Given the description of an element on the screen output the (x, y) to click on. 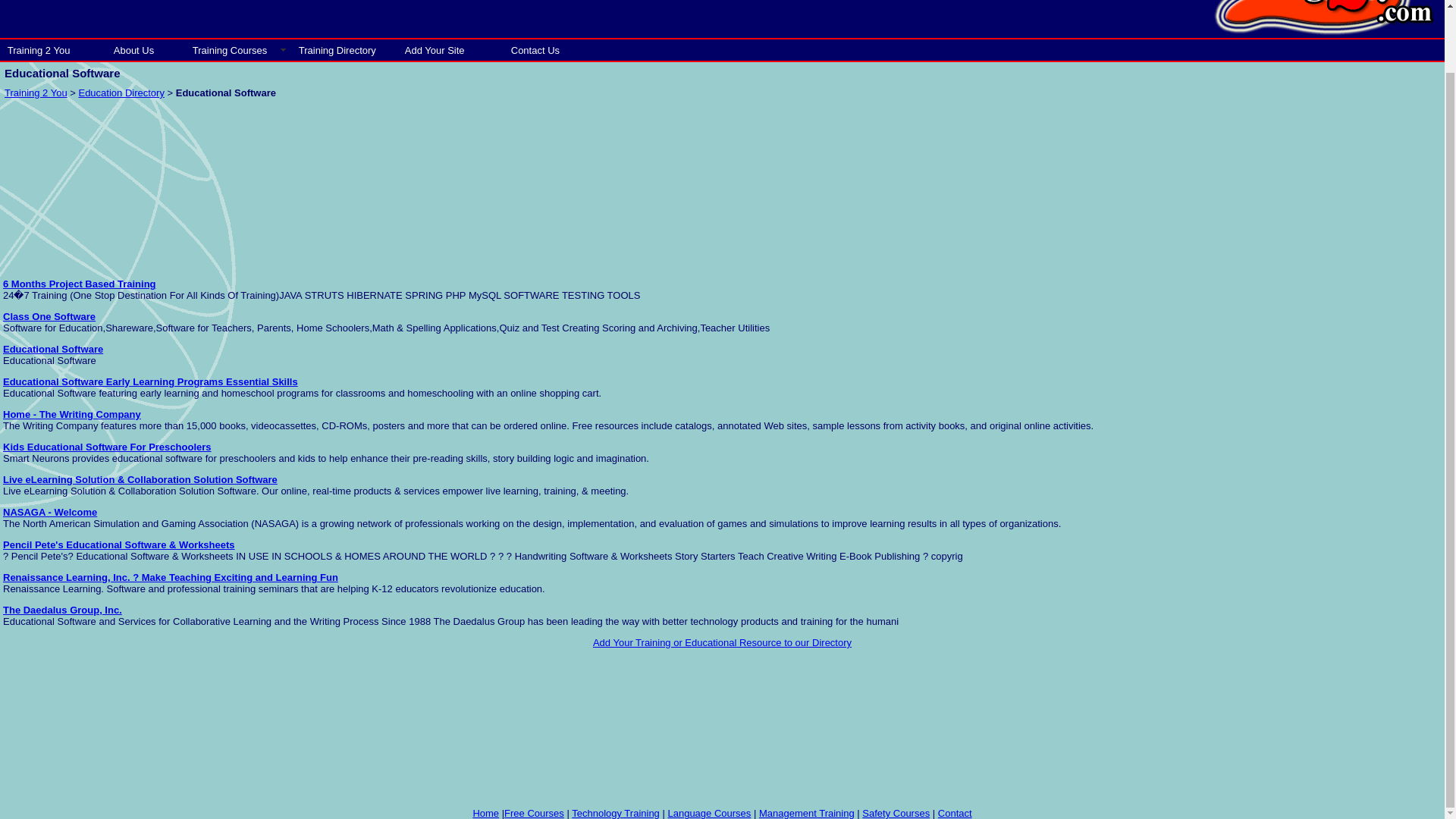
Educational Software (52, 348)
The Daedalus Group, Inc. (62, 609)
Advertisement (1327, 372)
Contact Us (542, 49)
Add Your Training or Educational Resource to our Directory (721, 642)
Kids Educational Software For Preschoolers (106, 446)
About Us (145, 49)
Training Directory (344, 49)
Class One Software (49, 316)
